Given the description of an element on the screen output the (x, y) to click on. 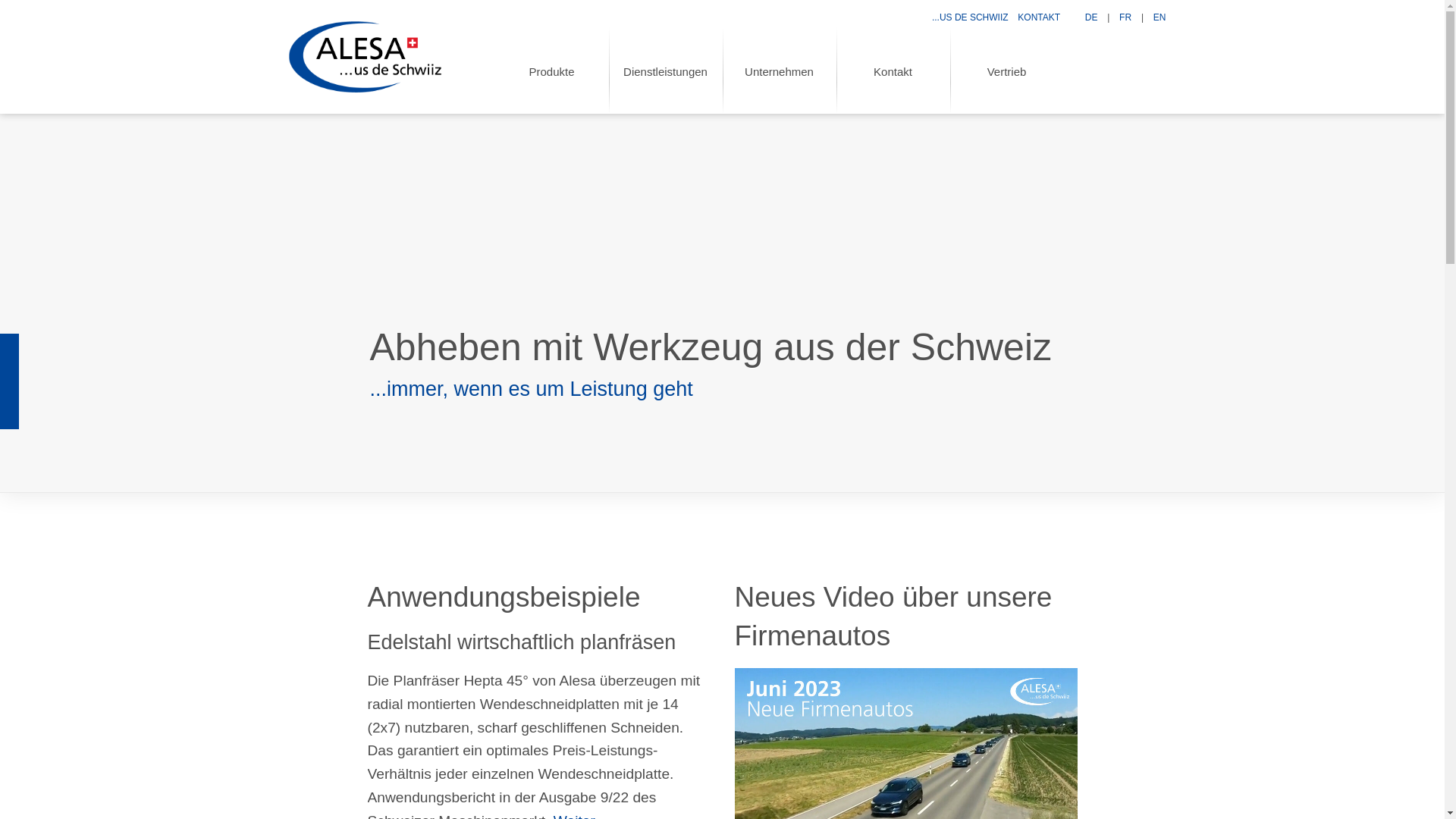
Unternehmen Element type: text (778, 70)
Produkte Element type: text (551, 70)
Kontakt Element type: text (892, 70)
FR Element type: text (1125, 17)
KONTAKT Element type: text (1038, 17)
DE Element type: text (1091, 17)
EN Element type: text (1159, 17)
...US DE SCHWIIZ Element type: text (969, 17)
Vertrieb Element type: text (1006, 70)
Dienstleistungen Element type: text (664, 70)
